Given the description of an element on the screen output the (x, y) to click on. 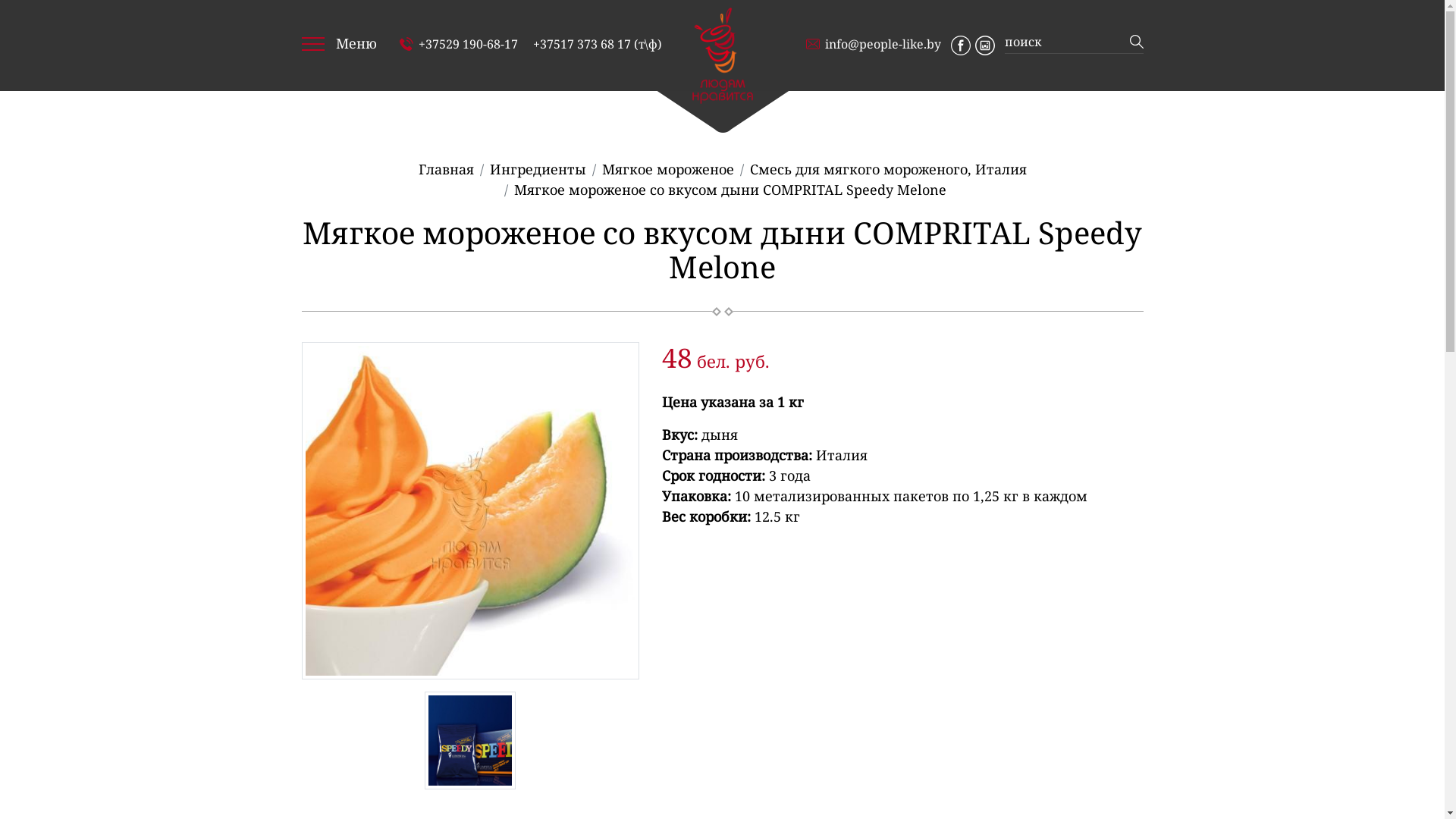
+37529 190-68-17 Element type: text (457, 43)
info@people-like.by Element type: text (872, 43)
